Given the description of an element on the screen output the (x, y) to click on. 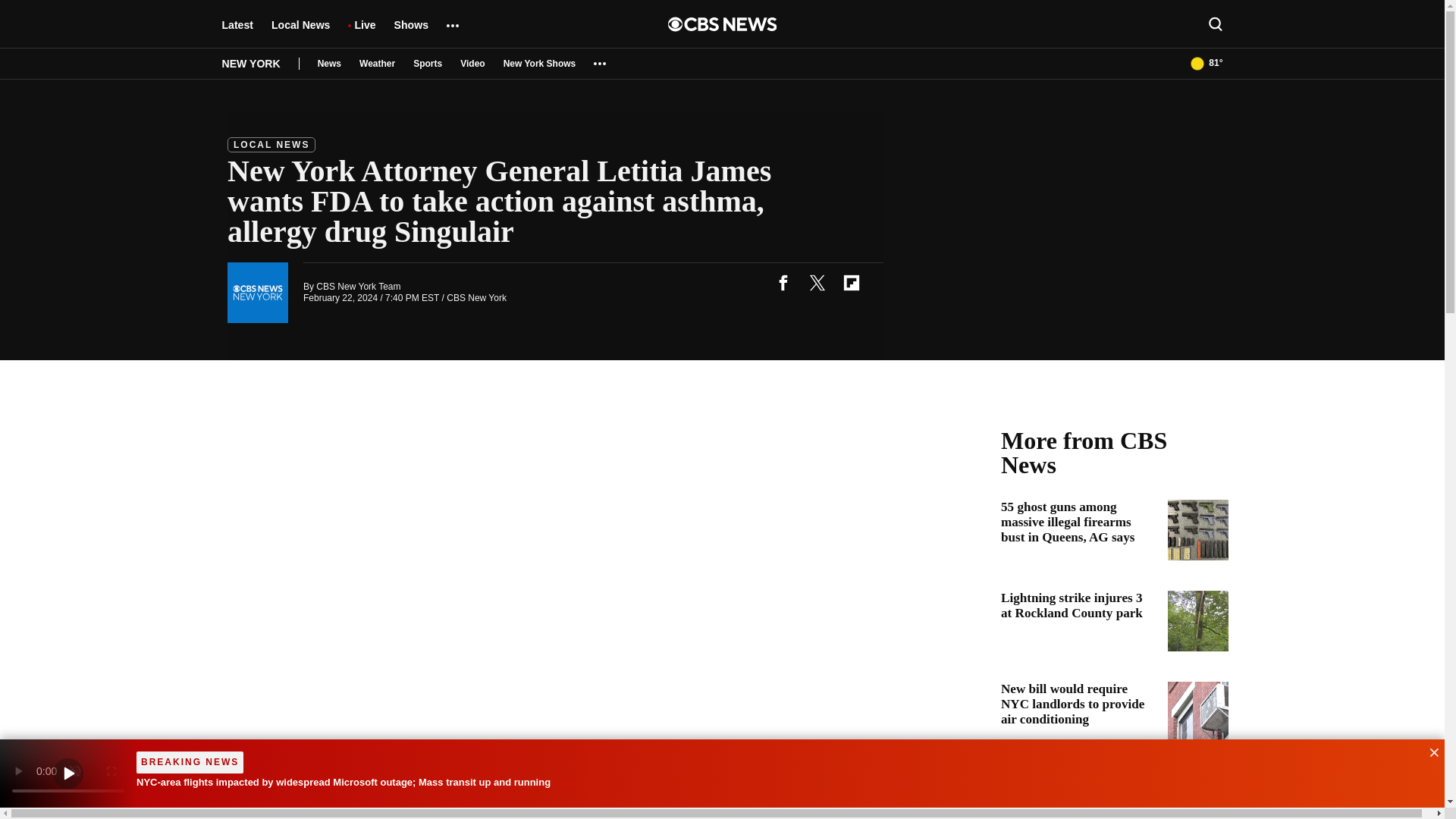
Watch CBS News (68, 773)
flipboard (850, 282)
Local News (300, 31)
Latest (236, 31)
facebook (782, 282)
twitter (816, 282)
Click to hide breaking news banner (1429, 750)
